Given the description of an element on the screen output the (x, y) to click on. 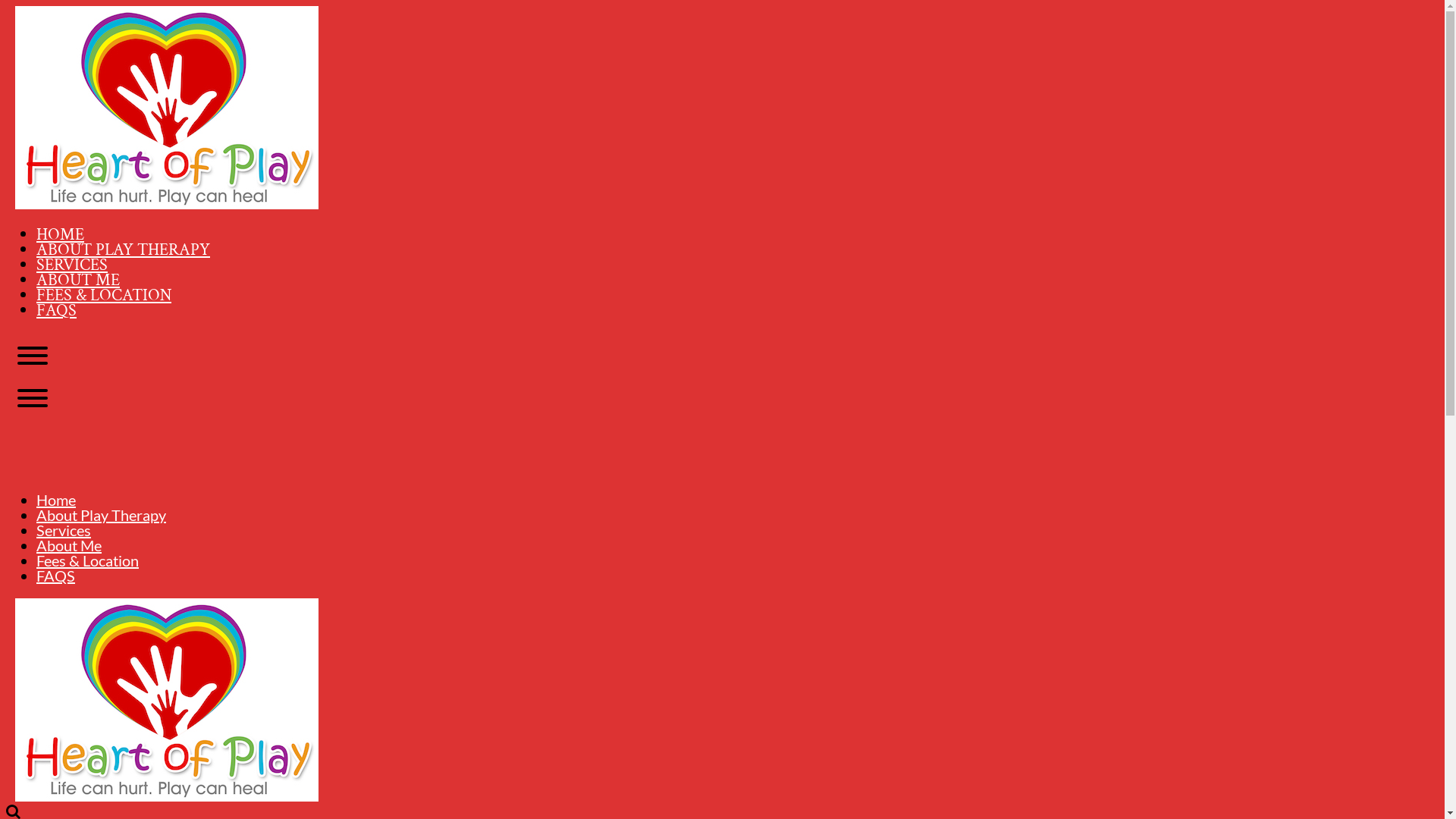
About Play Therapy Element type: text (101, 514)
Fees & Location Element type: text (87, 560)
SERVICES Element type: text (71, 265)
Services Element type: text (63, 529)
Home Element type: text (55, 499)
FAQS Element type: text (55, 575)
FAQS Element type: text (56, 310)
HOME Element type: text (60, 234)
ABOUT PLAY THERAPY Element type: text (123, 249)
FEES & LOCATION Element type: text (103, 295)
About Me Element type: text (68, 545)
ABOUT ME Element type: text (77, 280)
